Given the description of an element on the screen output the (x, y) to click on. 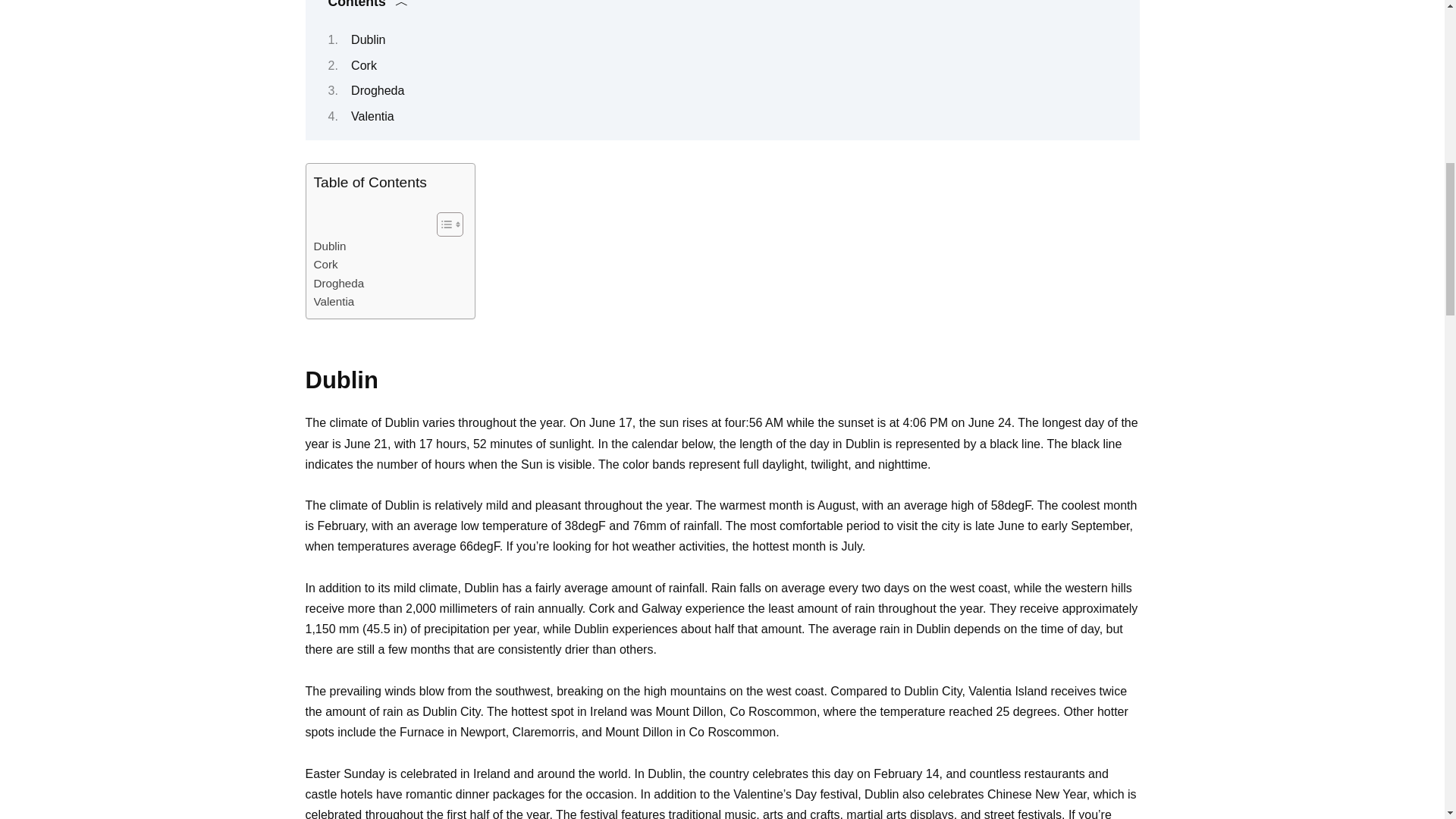
Dublin (330, 246)
Cork (325, 264)
Drogheda (339, 283)
Valentia (334, 301)
